Given the description of an element on the screen output the (x, y) to click on. 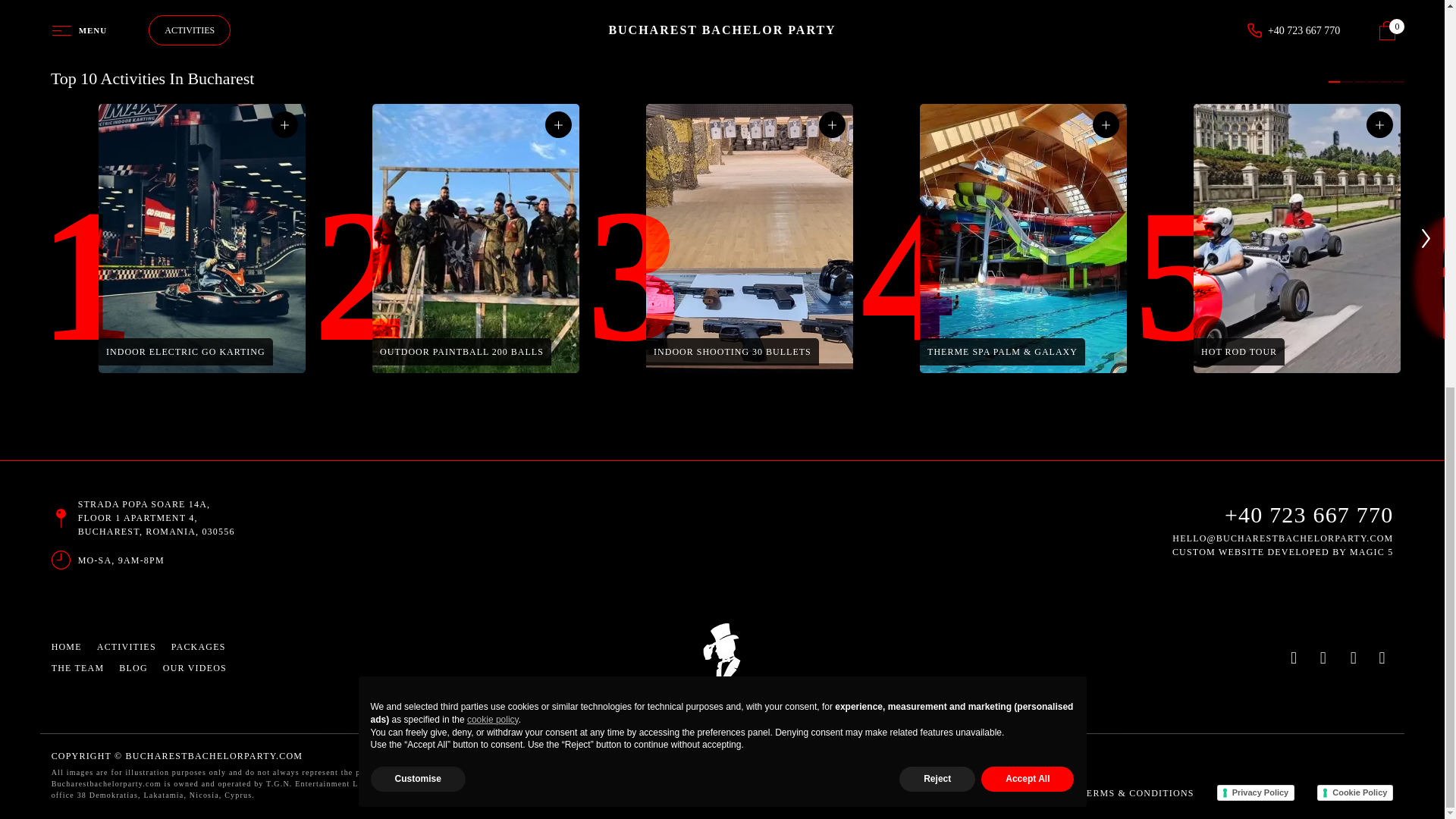
INDOOR SHOOTING 30 BULLETS (731, 351)
INDOOR ELECTRIC GO KARTING (185, 351)
HOT ROD TOUR (1238, 351)
Logo unknown (722, 657)
Cookie Policy  (1355, 792)
OUTDOOR PAINTBALL 200 BALLS (461, 351)
Privacy Policy  (1256, 792)
